Given the description of an element on the screen output the (x, y) to click on. 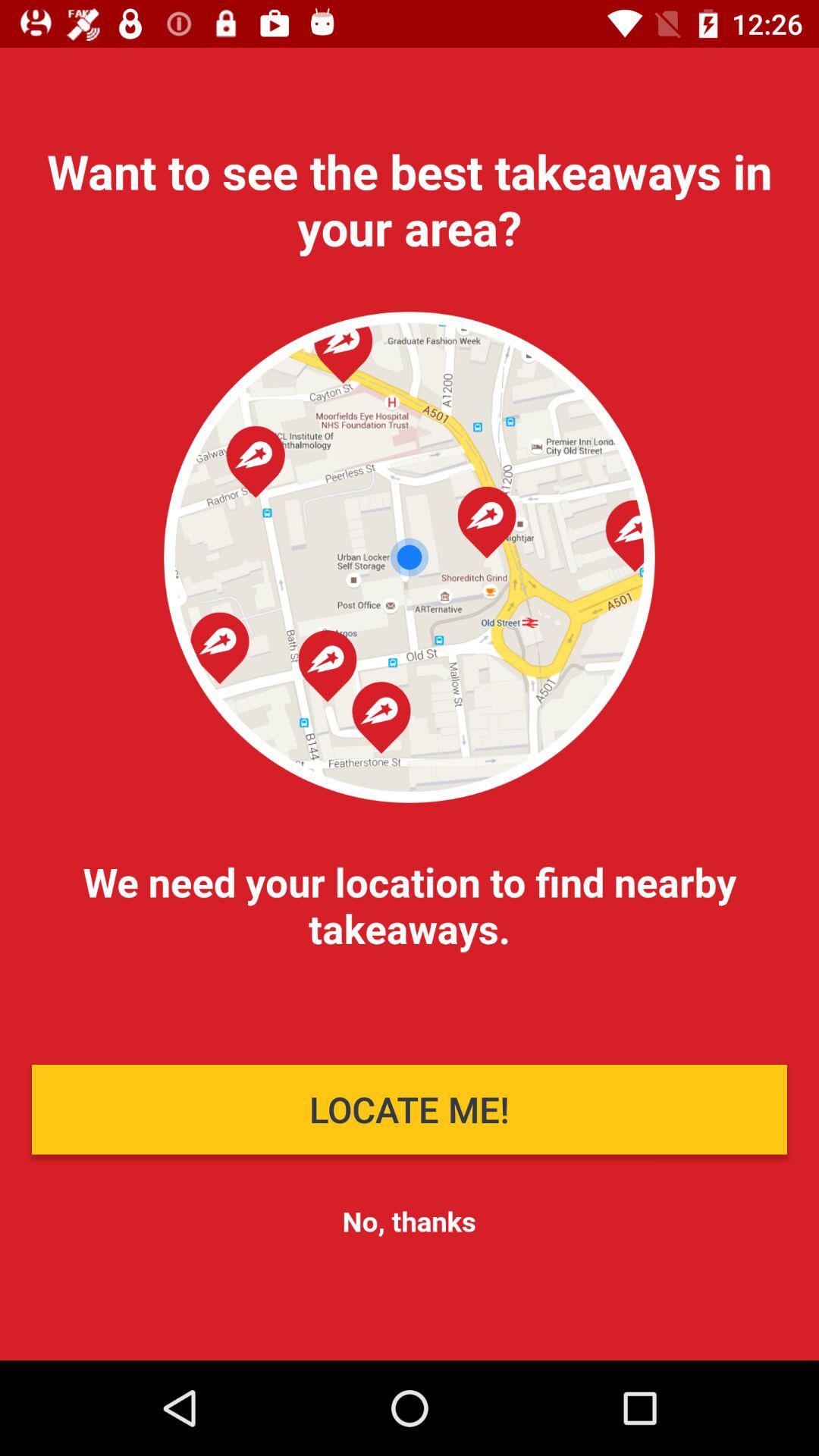
jump to the locate me! icon (409, 1109)
